Given the description of an element on the screen output the (x, y) to click on. 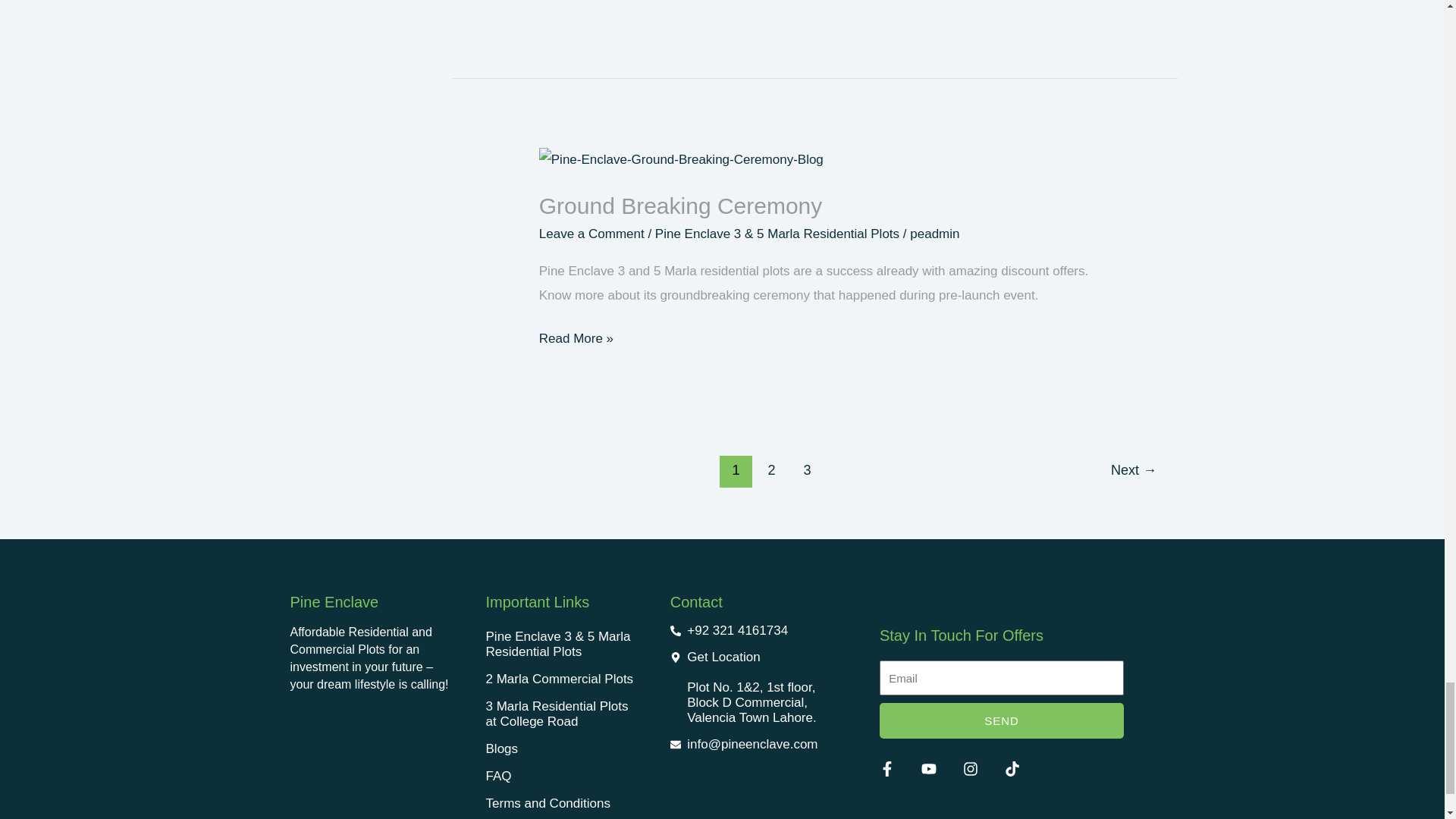
View all posts by peadmin (934, 233)
